Given the description of an element on the screen output the (x, y) to click on. 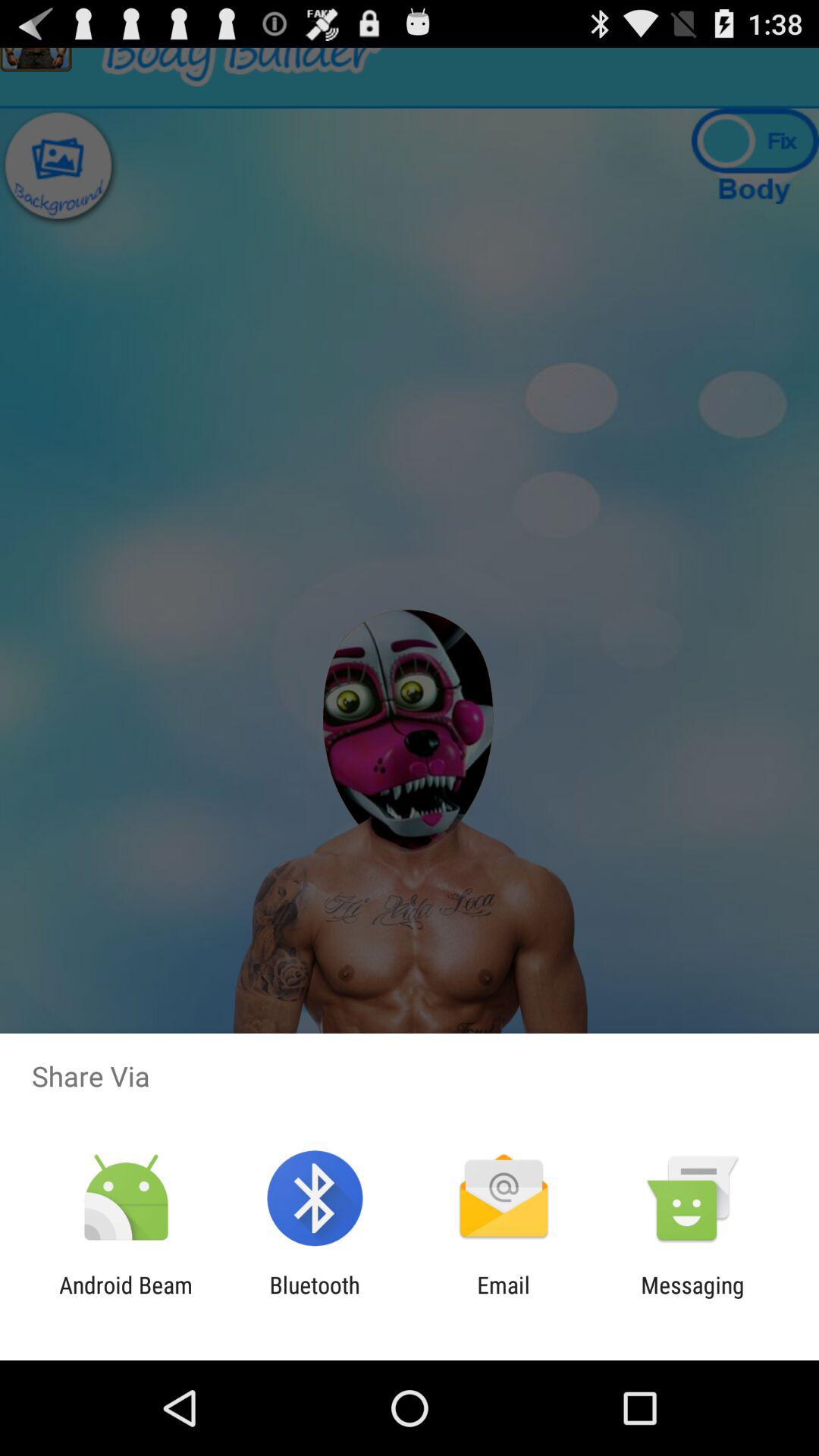
swipe to the bluetooth item (314, 1298)
